Given the description of an element on the screen output the (x, y) to click on. 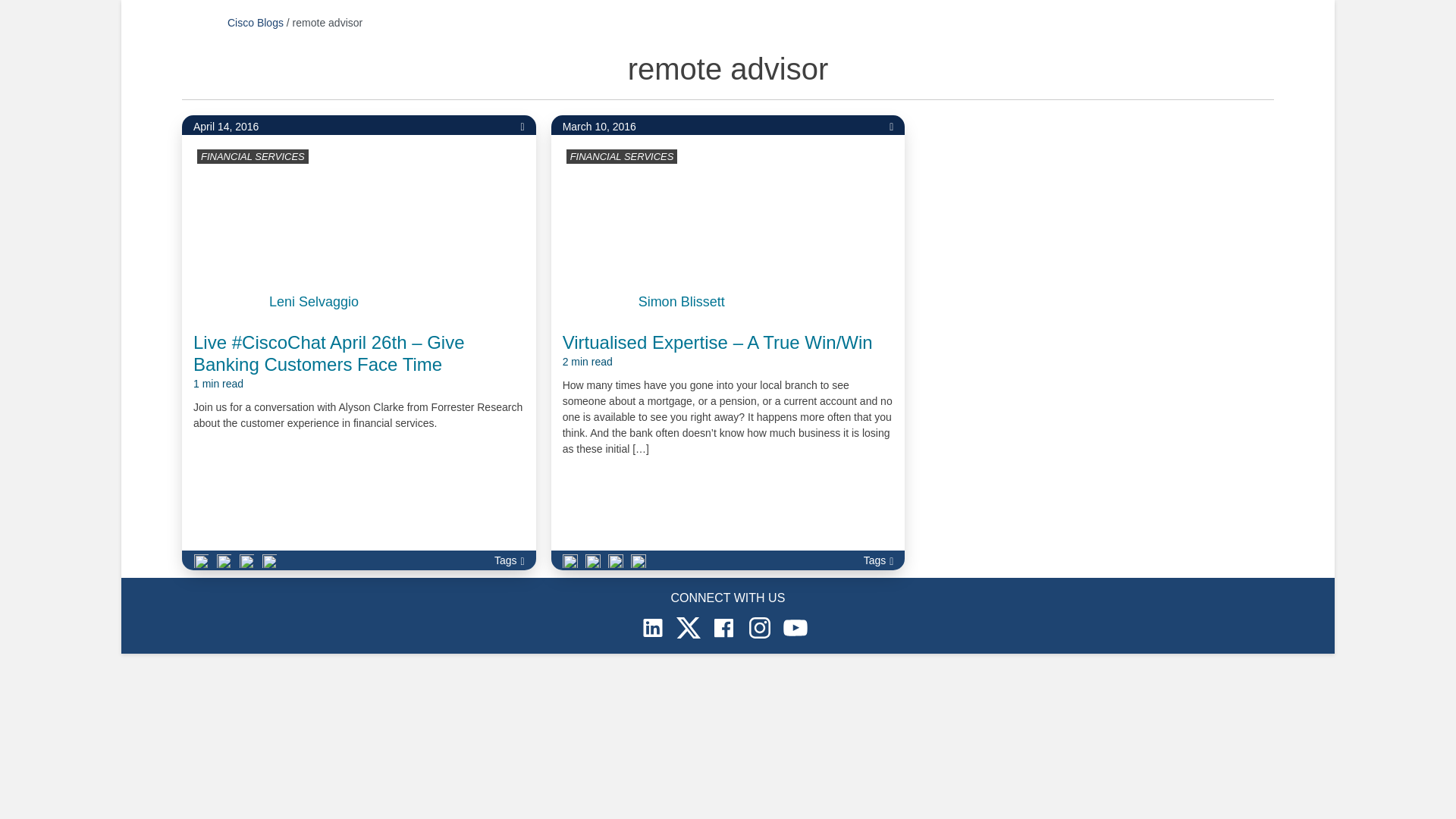
Leni Selvaggio (313, 302)
FINANCIAL SERVICES (252, 156)
Simon Blissett (682, 302)
FINANCIAL SERVICES (622, 156)
Posts by Simon Blissett (682, 302)
Posts by Leni Selvaggio (313, 302)
Cisco Blogs (255, 22)
